Given the description of an element on the screen output the (x, y) to click on. 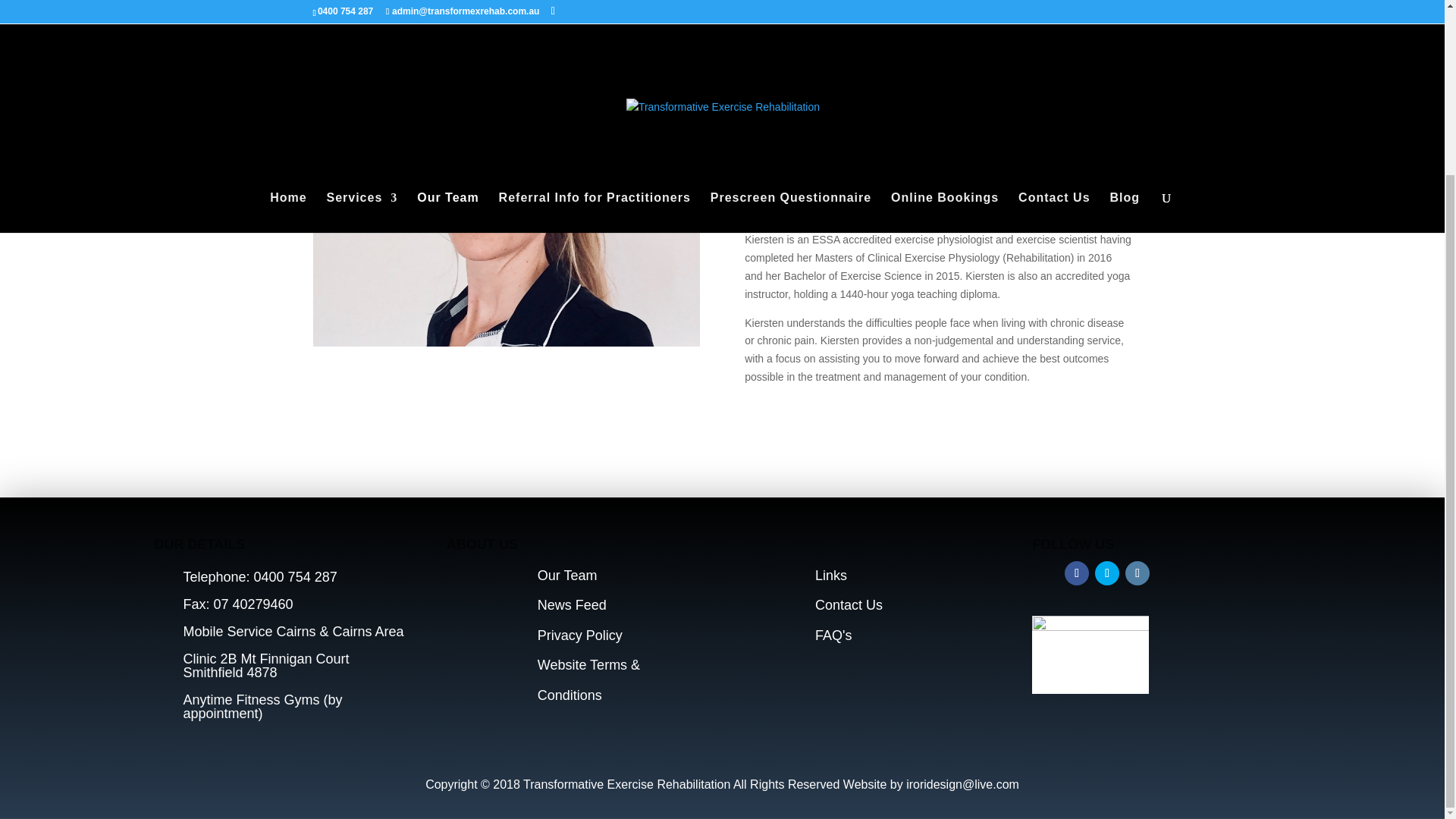
Home (287, 10)
Links (831, 575)
News Feed (572, 604)
Our Team (447, 10)
Follow on Facebook (1076, 573)
Our Team (566, 575)
Services (361, 10)
Online Bookings (944, 10)
Contact Us (1053, 10)
Privacy Policy (580, 635)
Referral Info for Practitioners (594, 10)
Contact Us (848, 604)
Follow on Twitter (1106, 573)
Follow on Instagram (1137, 573)
Prescreen Questionnaire (790, 10)
